Given the description of an element on the screen output the (x, y) to click on. 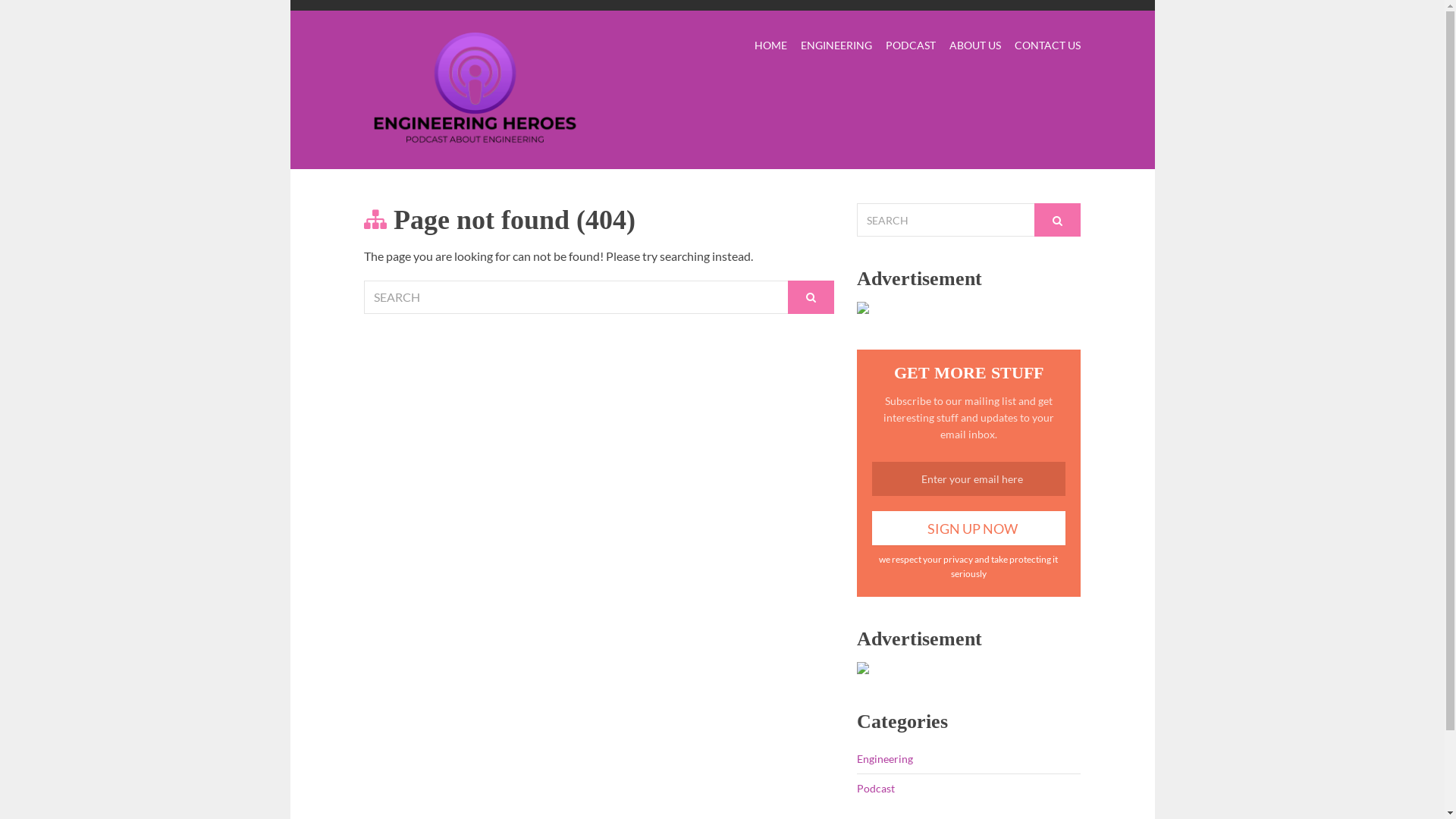
GO Element type: text (810, 296)
ENGINEERING Element type: text (836, 46)
GO Element type: text (1057, 219)
ABOUT US Element type: text (975, 46)
PODCAST Element type: text (910, 46)
HOME Element type: text (770, 46)
Sign Up Now Element type: text (968, 528)
Podcast Element type: text (875, 787)
CONTACT US Element type: text (1047, 46)
Engineering Element type: text (884, 758)
